Given the description of an element on the screen output the (x, y) to click on. 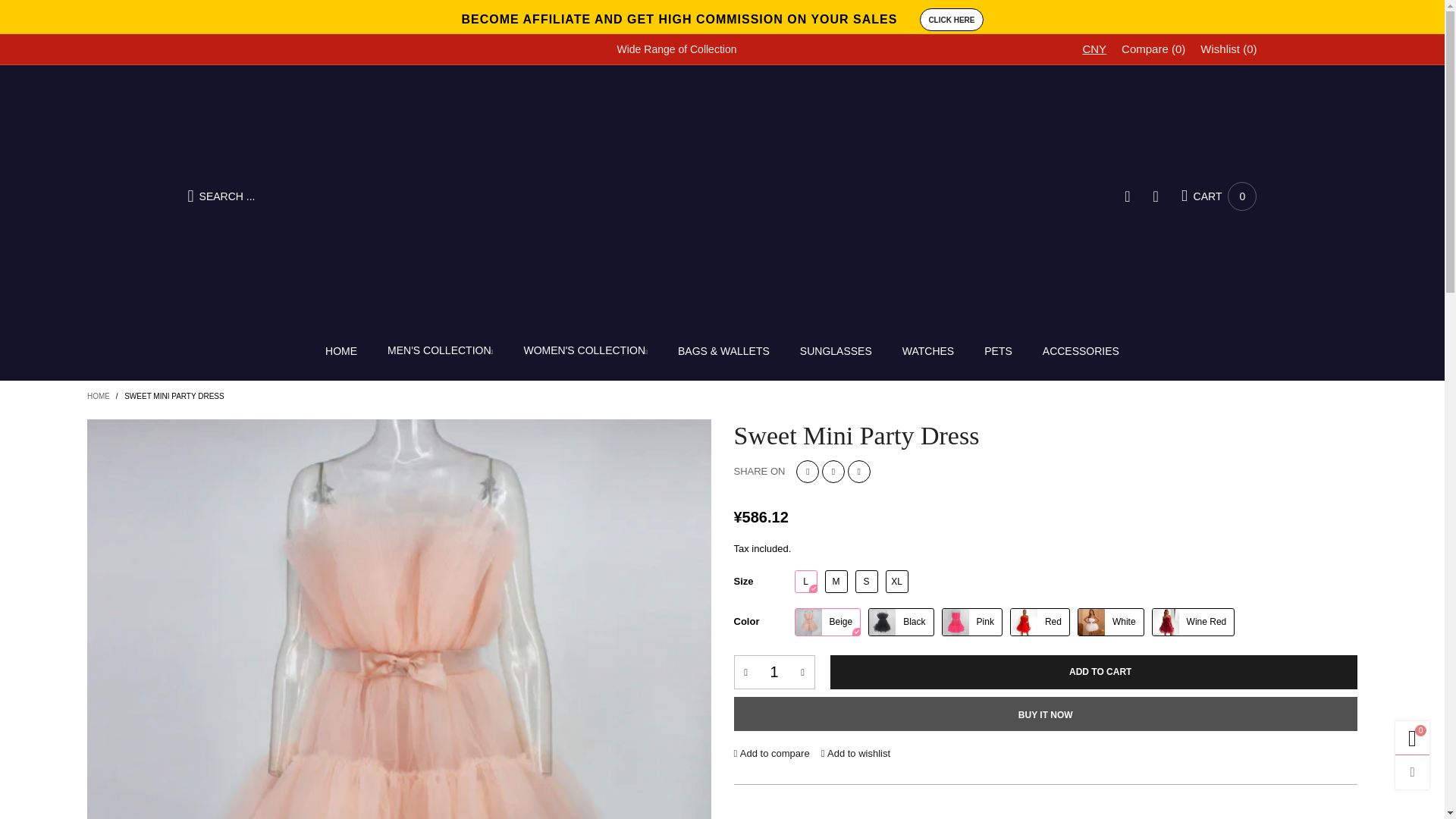
Men's Collection (1218, 195)
Cart (440, 351)
MEN'S COLLECTION (1218, 195)
1 (440, 351)
Search ... (773, 672)
HOME (358, 196)
BECOME AFFILIATE AND GET HIGH COMMISSION ON YOUR SALES (340, 350)
Compare (678, 19)
Women's collection (1152, 49)
